Given the description of an element on the screen output the (x, y) to click on. 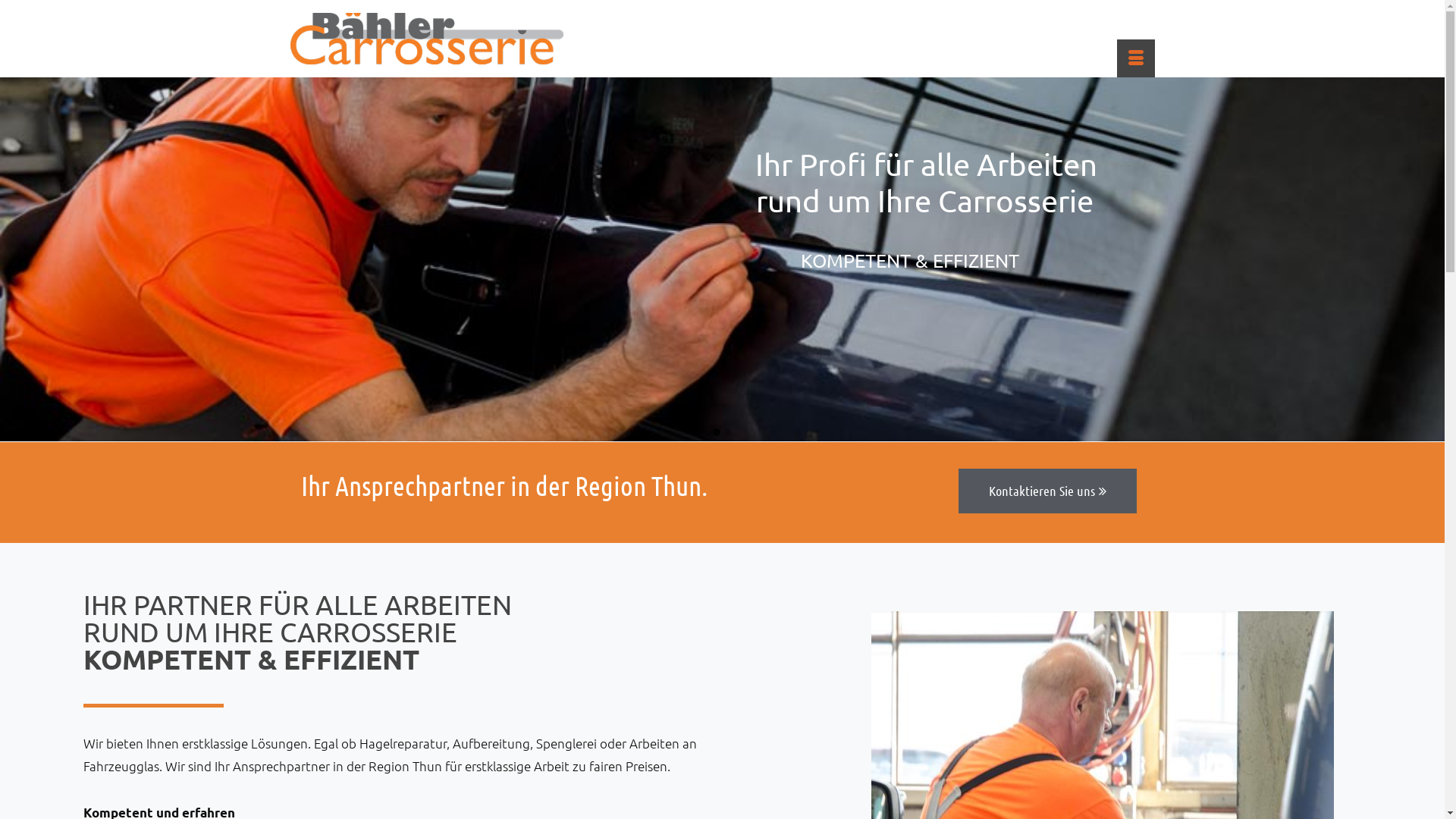
Go to slide 1 Element type: text (715, 427)
Kontaktieren Sie uns Element type: text (1047, 490)
Go to slide 2 Element type: text (727, 427)
